Given the description of an element on the screen output the (x, y) to click on. 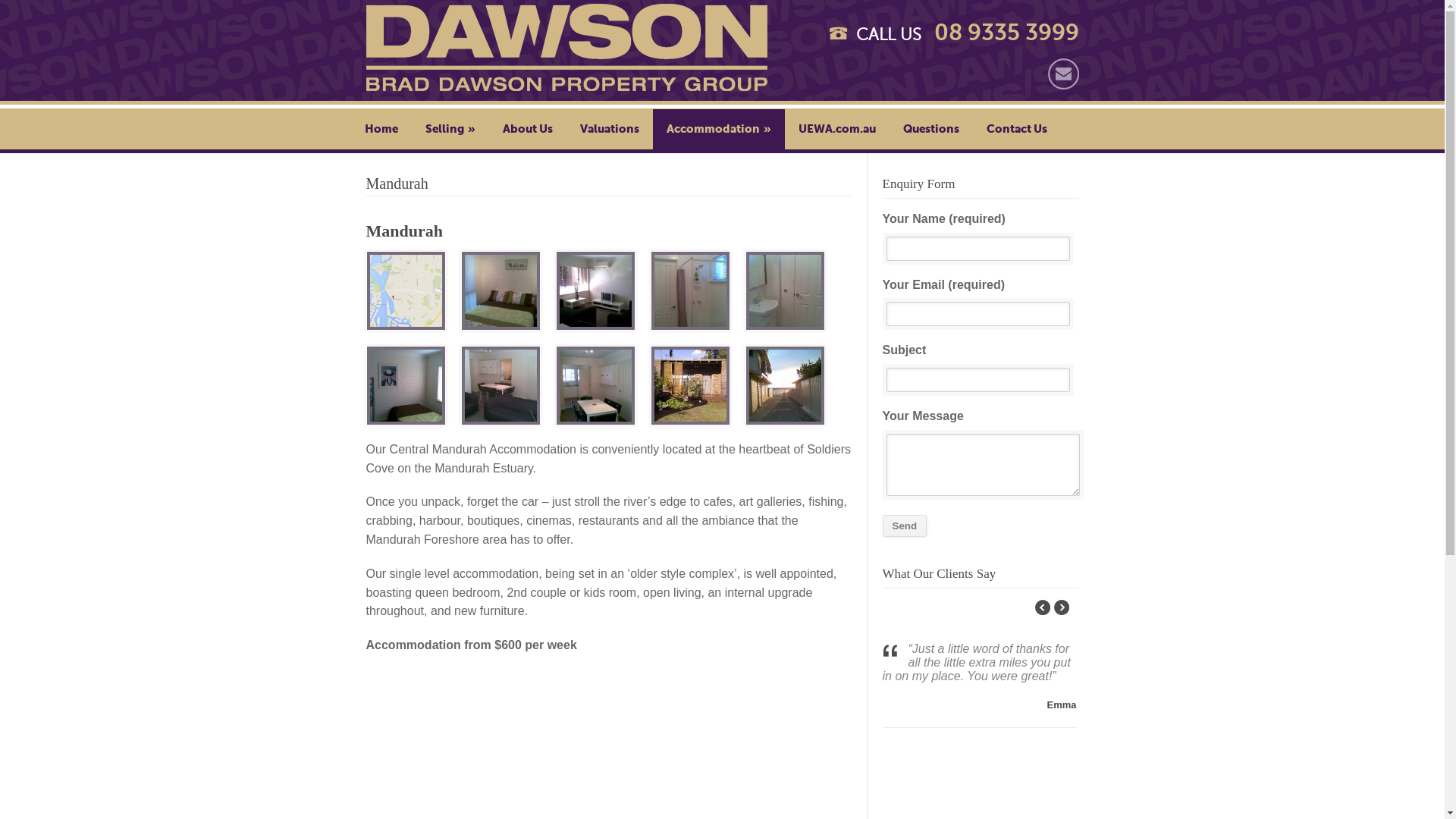
Contact Us Element type: text (1016, 128)
Questions Element type: text (930, 128)
Valuations Element type: text (608, 128)
UEWA.com.au Element type: text (836, 128)
About Us Element type: text (526, 128)
Send Element type: text (904, 525)
Home Element type: text (380, 128)
